Given the description of an element on the screen output the (x, y) to click on. 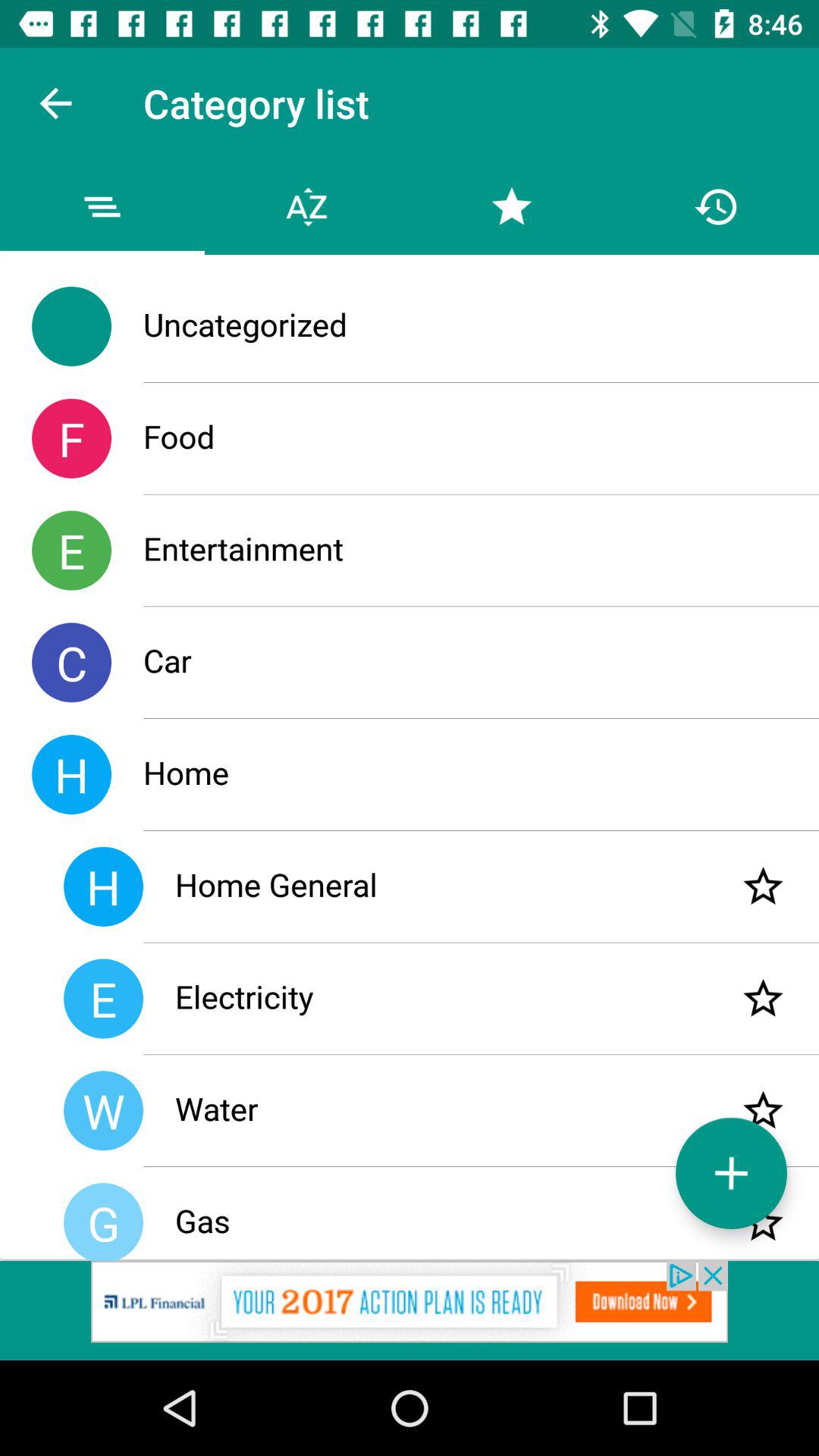
add new (731, 1173)
